Given the description of an element on the screen output the (x, y) to click on. 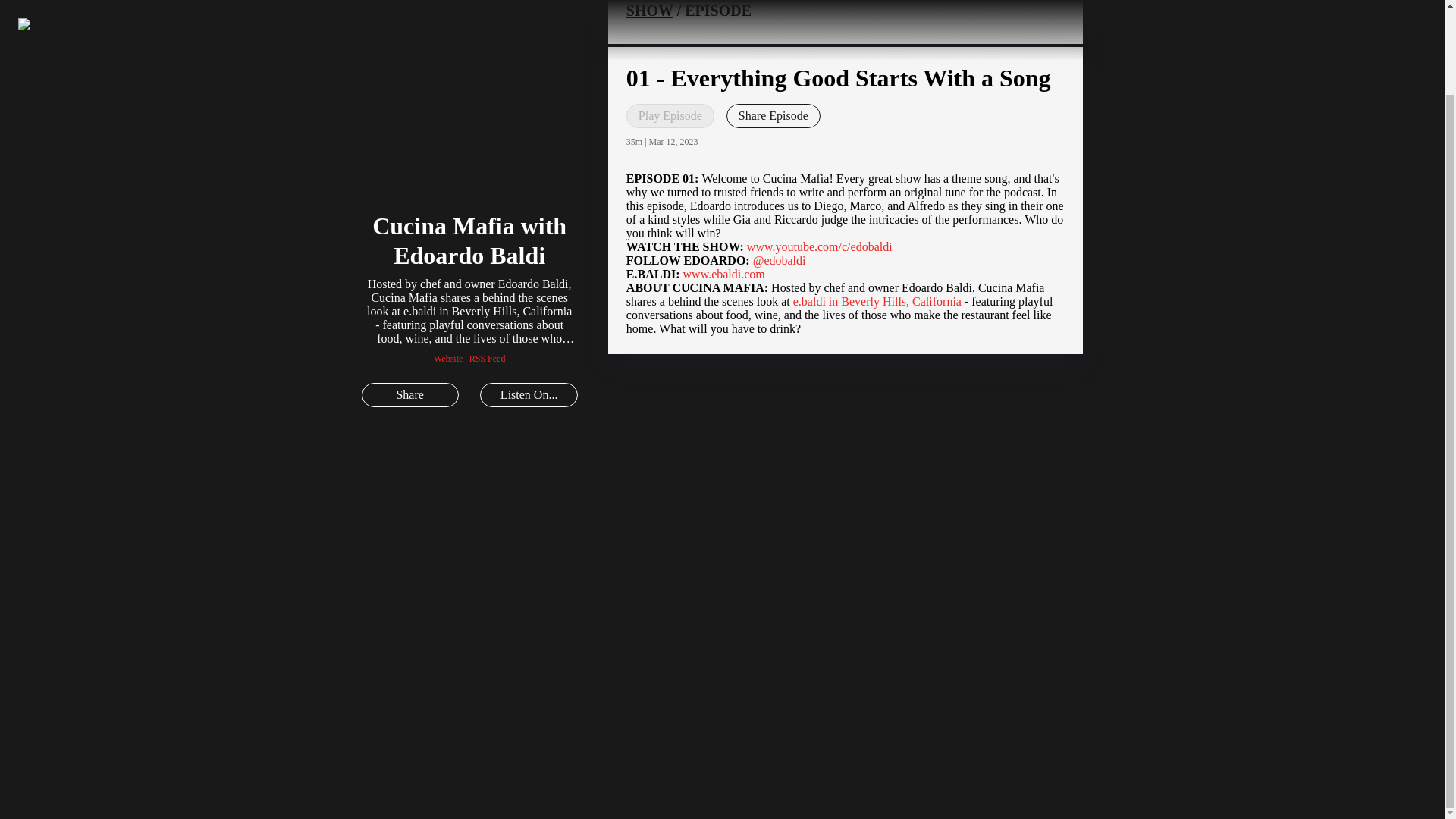
Share Episode (773, 115)
e.baldi in Beverly Hills, California (876, 300)
Listen On... (528, 395)
Website (448, 357)
RSS Feed (486, 357)
Play Episode (670, 115)
www.ebaldi.com (723, 273)
SHOW (649, 10)
Share (409, 395)
